Given the description of an element on the screen output the (x, y) to click on. 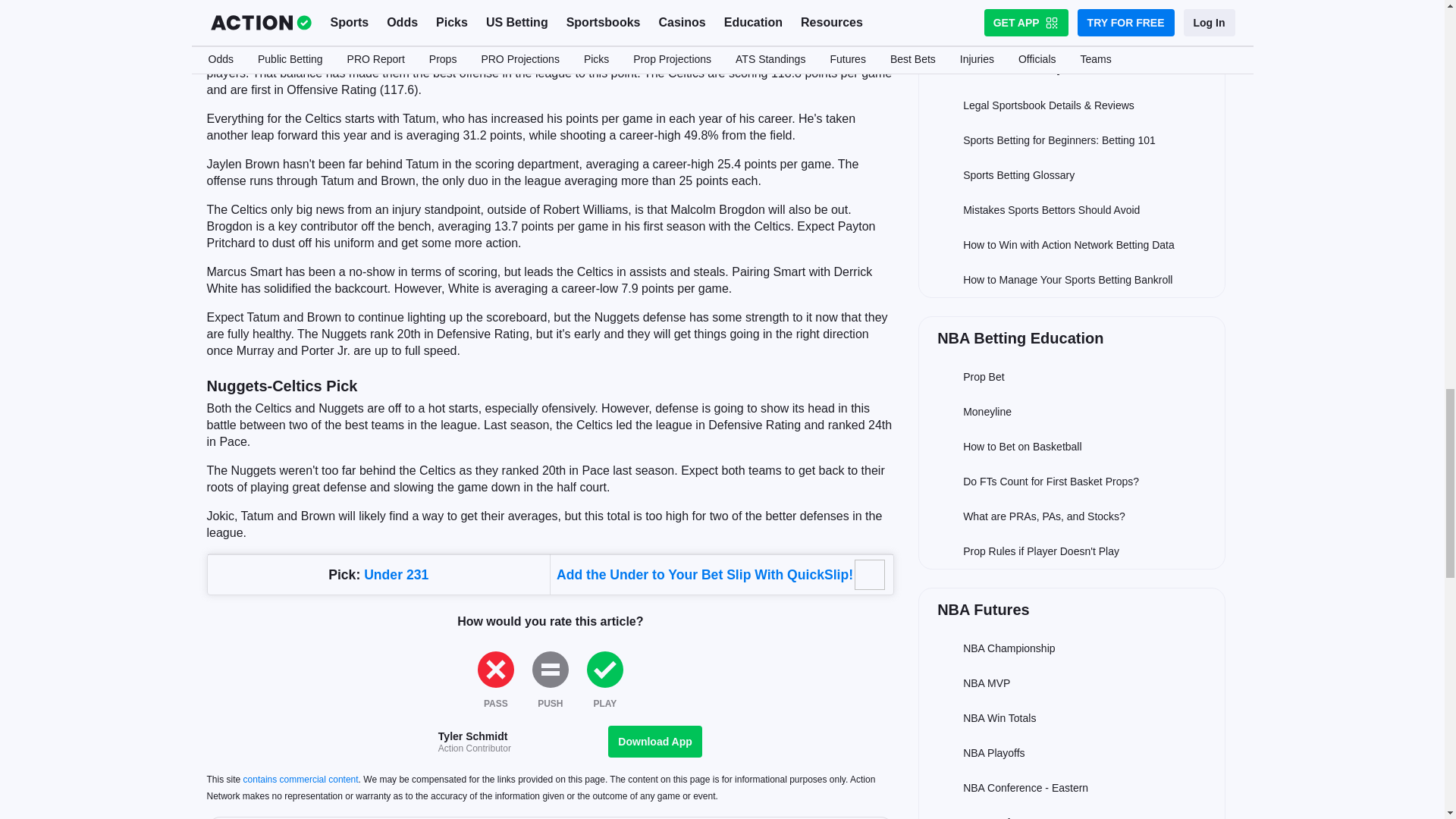
Add the Under to Your Bet Slip With QuickSlip! (704, 574)
Under 231 (396, 574)
